Given the description of an element on the screen output the (x, y) to click on. 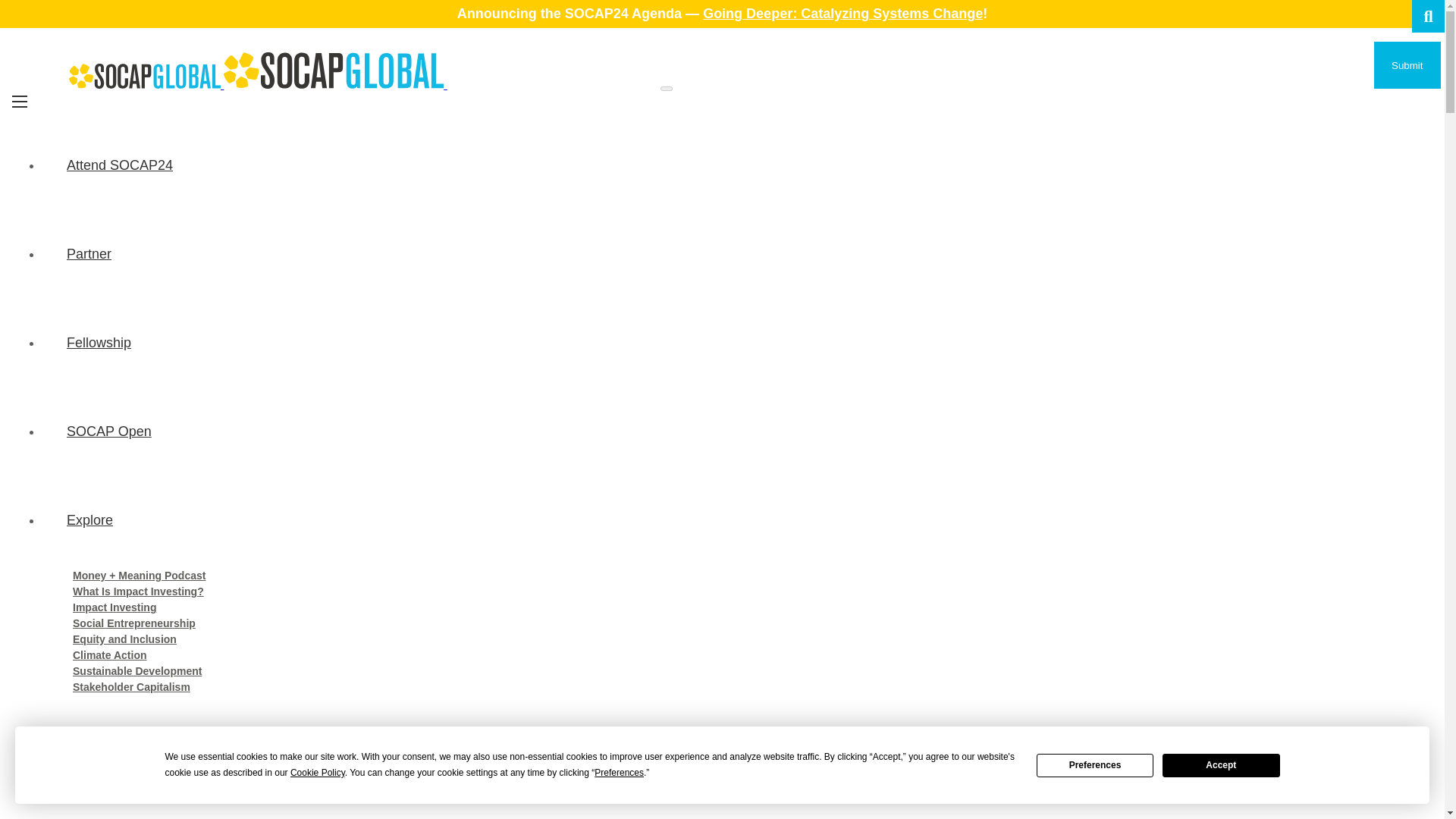
Learn More (737, 768)
Partner (737, 254)
Explore (737, 520)
Fellowship (737, 343)
Impact Investing (113, 606)
Stakeholder Capitalism (131, 686)
Equity and Inclusion (124, 638)
Explore (737, 520)
Fellowship (737, 343)
Equity and Inclusion (124, 638)
What Is Impact Investing? (137, 591)
Stakeholder Capitalism (131, 686)
Learn More (737, 768)
Social Entrepreneurship (133, 623)
Checkout (58, 757)
